Given the description of an element on the screen output the (x, y) to click on. 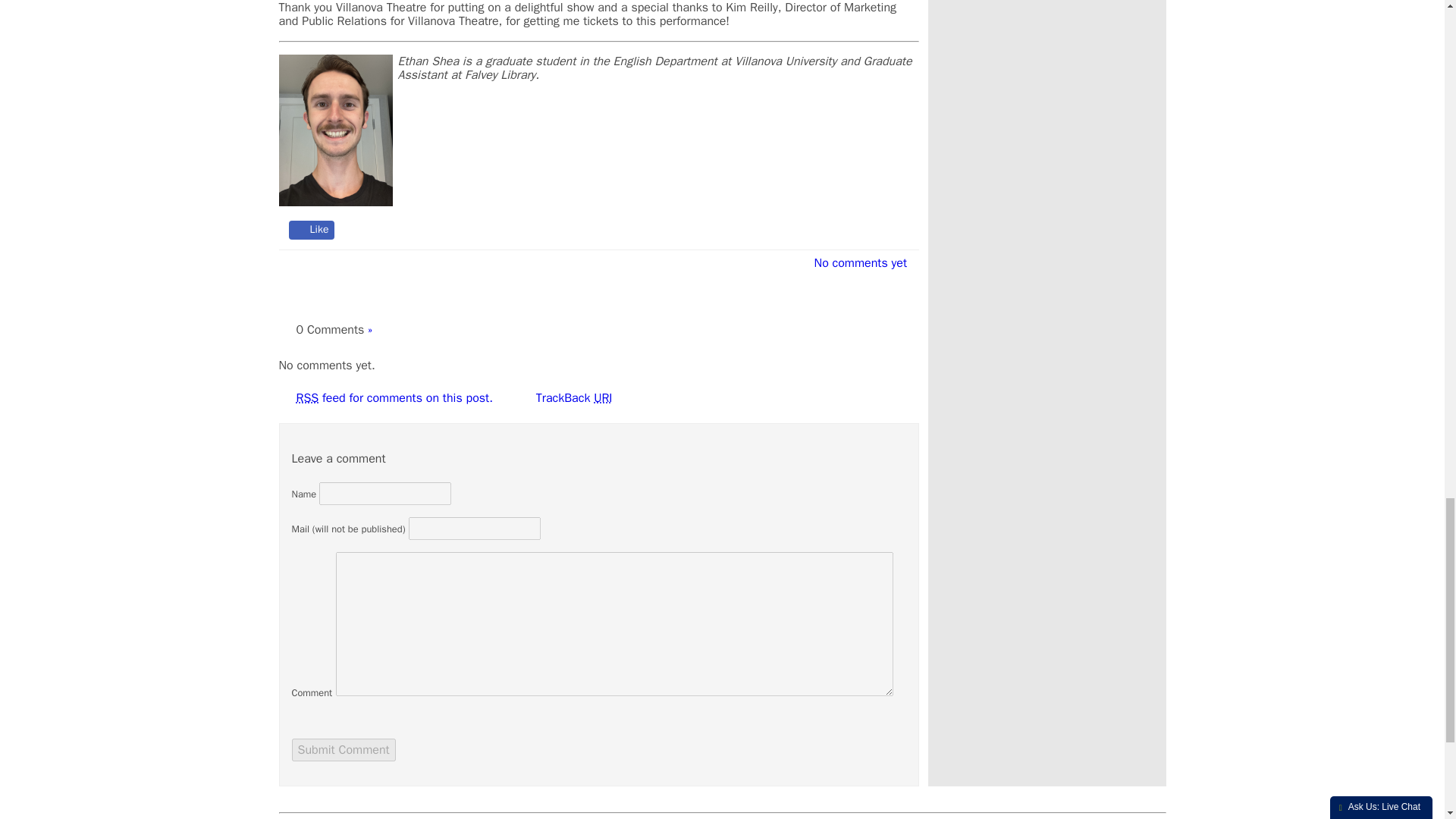
Submit Comment (342, 749)
Uniform Resource Identifier (602, 397)
TrackBack URI (569, 397)
RSS feed for comments on this post. (393, 397)
Really Simple Syndication (306, 397)
Submit Comment (342, 749)
No comments yet (855, 262)
